Given the description of an element on the screen output the (x, y) to click on. 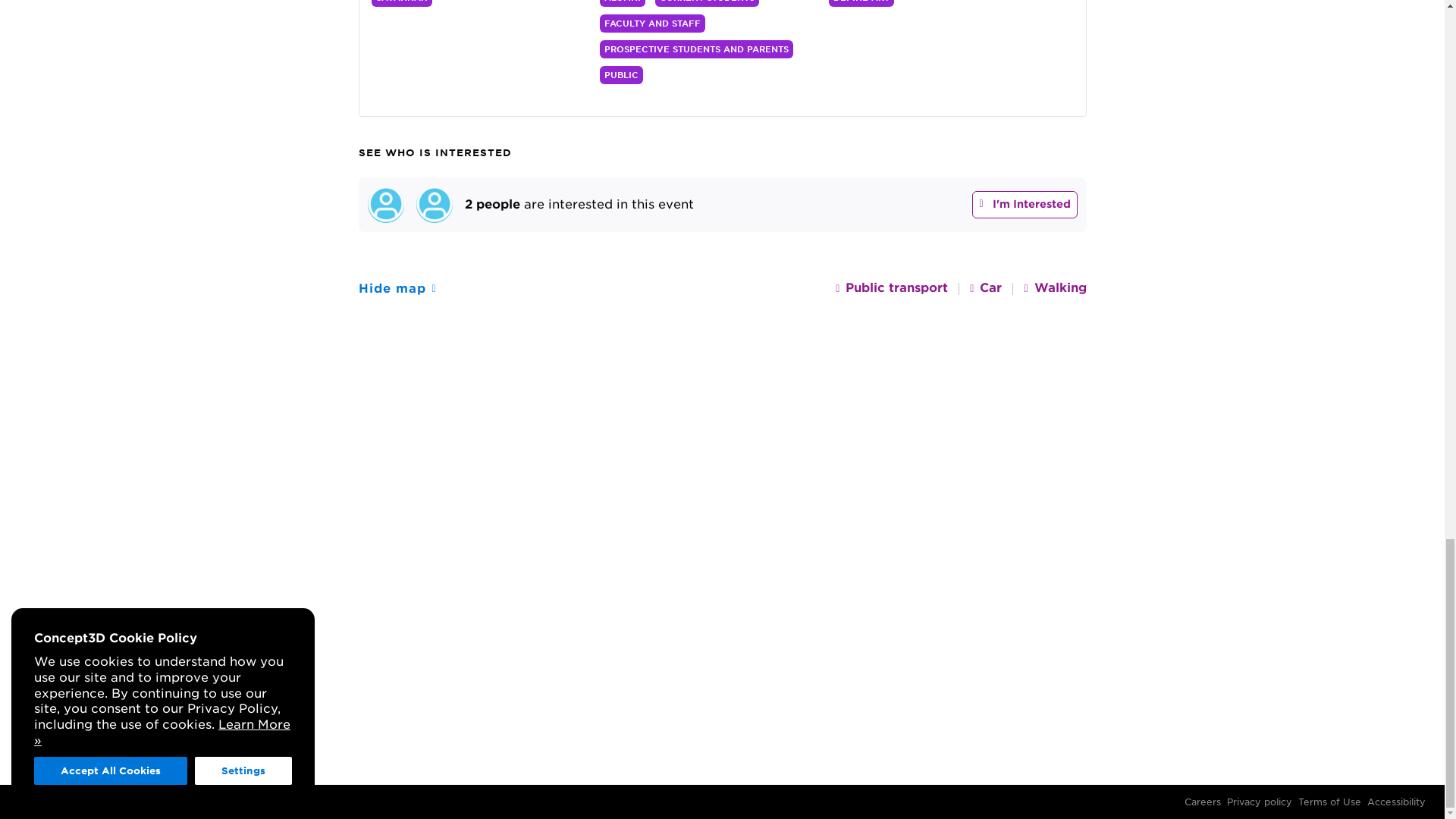
PUBLIC (621, 75)
ALUMNI (622, 3)
DEFINE ART (860, 3)
FACULTY AND STAFF (651, 23)
PROSPECTIVE STUDENTS AND PARENTS (696, 49)
SAVANNAH (401, 3)
CURRENT STUDENTS (706, 3)
